Given the description of an element on the screen output the (x, y) to click on. 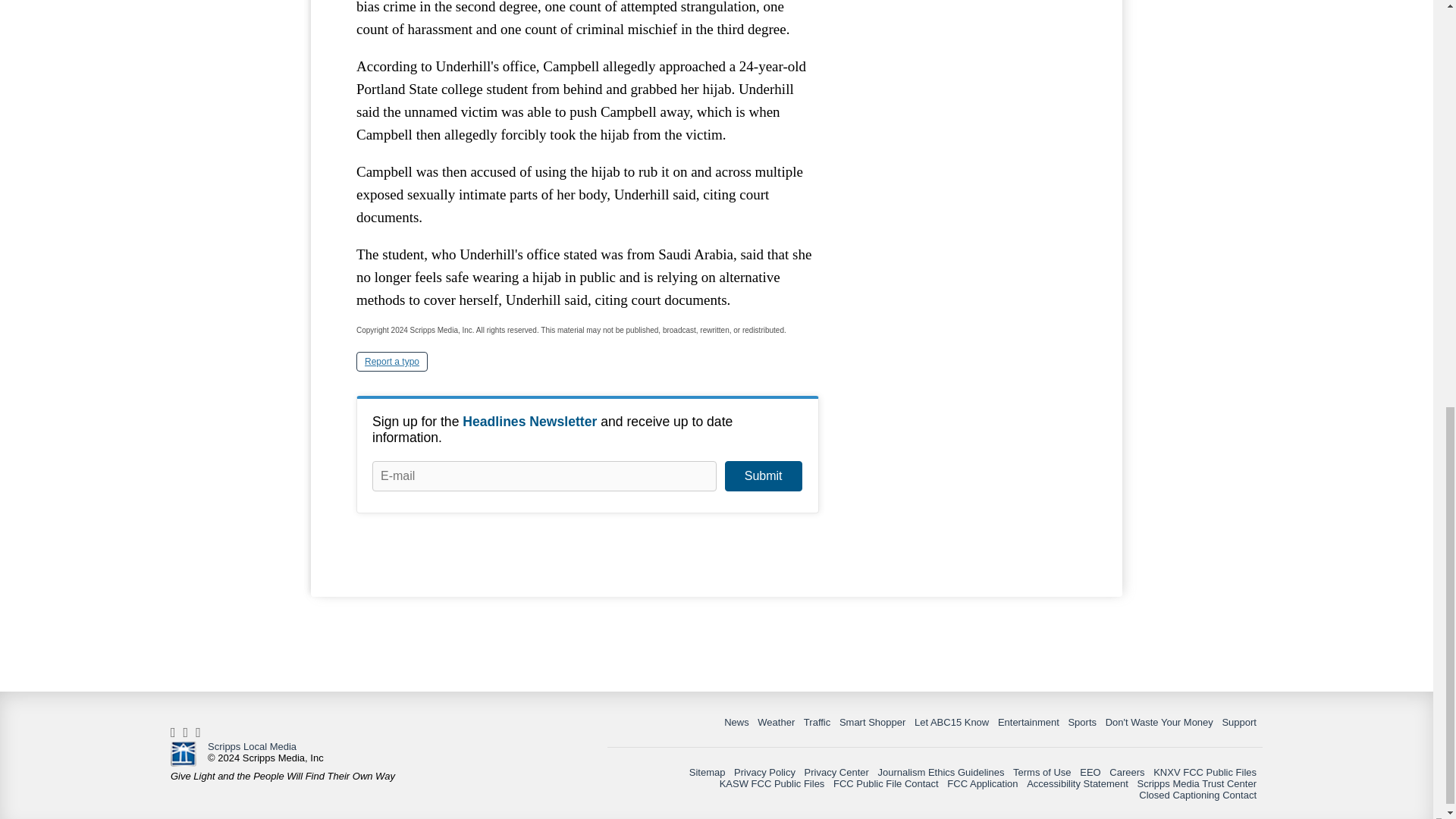
Submit (763, 476)
